Given the description of an element on the screen output the (x, y) to click on. 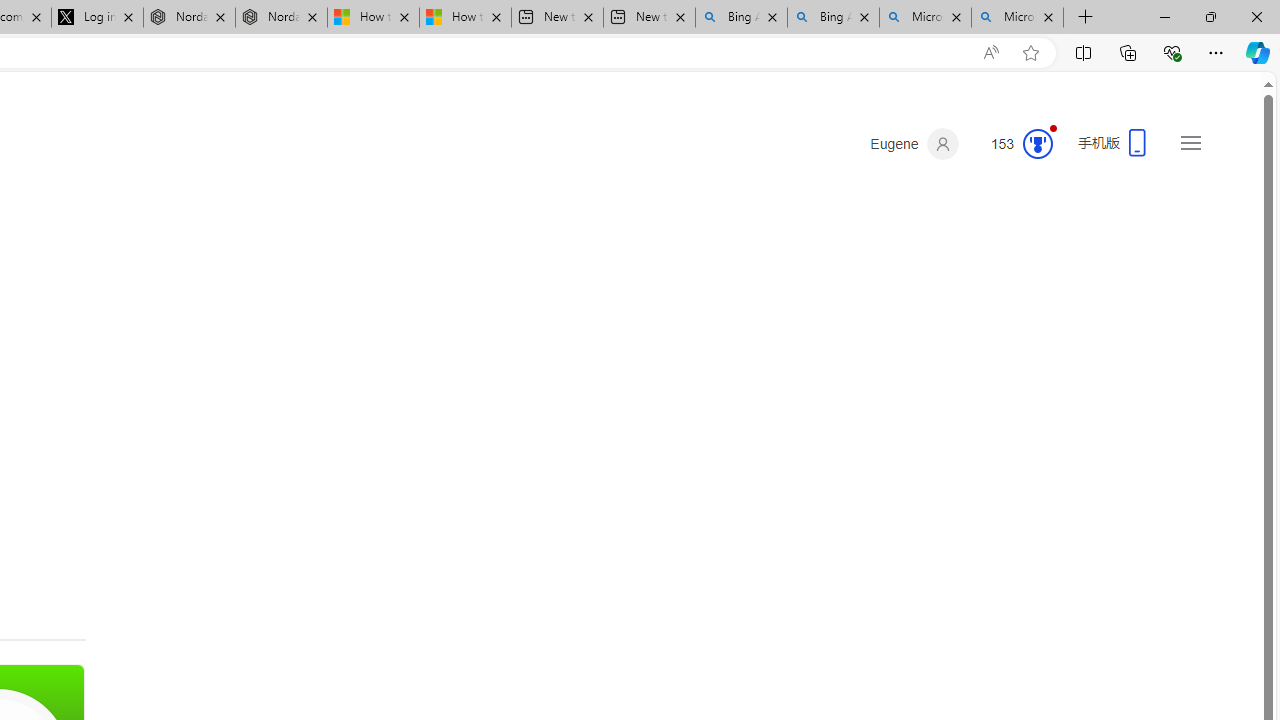
How to Use a Monitor With Your Closed Laptop (464, 17)
Class: medal-circled (1037, 143)
Settings and quick links (1190, 142)
Eugene (914, 143)
